Given the description of an element on the screen output the (x, y) to click on. 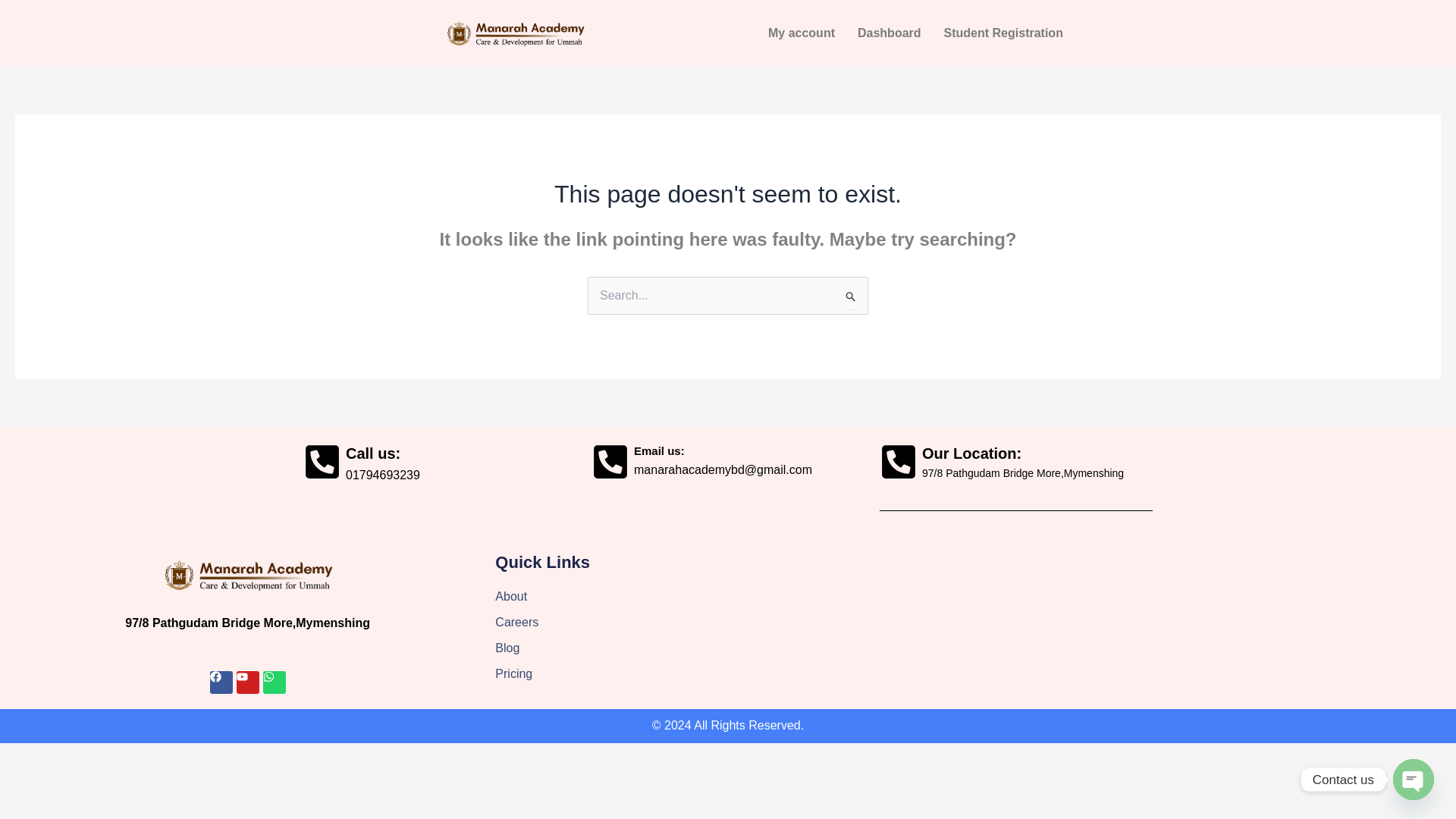
Dashboard (889, 32)
Whatsapp (274, 681)
Student Registration (1003, 32)
Youtube (247, 681)
Pricing (727, 674)
Blog (727, 648)
About (727, 597)
Facebook (220, 681)
My account (801, 32)
Careers (727, 622)
